Given the description of an element on the screen output the (x, y) to click on. 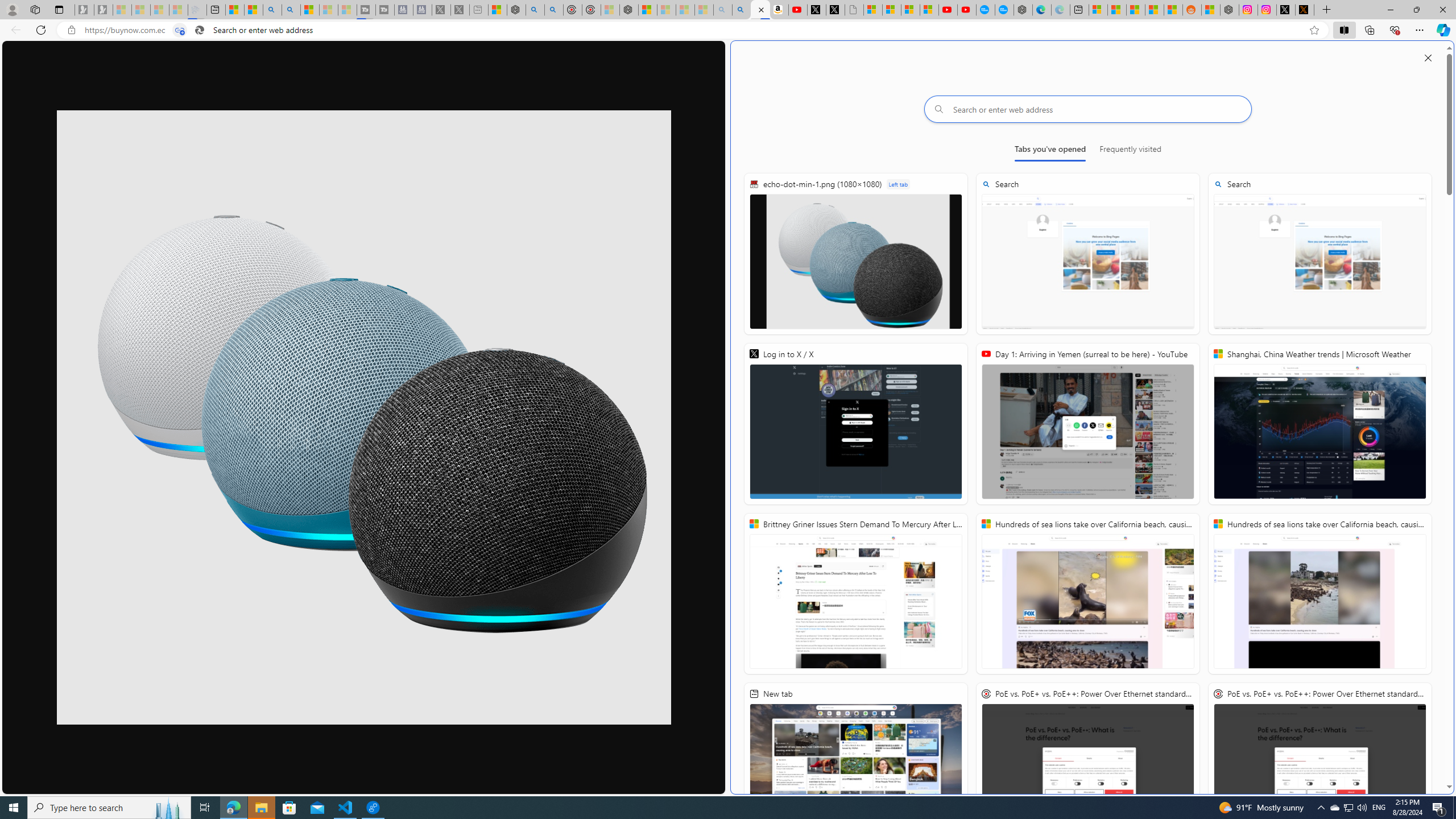
Amazon Echo Dot PNG - Search Images (741, 9)
Day 1: Arriving in Yemen (surreal to be here) - YouTube (1087, 423)
Untitled (853, 9)
amazon - Search - Sleeping (722, 9)
Microsoft Start - Sleeping (328, 9)
Log in to X / X (855, 423)
Back (13, 29)
Shanghai, China weather forecast | Microsoft Weather (1116, 9)
Streaming Coverage | T3 - Sleeping (366, 9)
Nordace - Nordace has arrived Hong Kong (1022, 9)
Search (290, 9)
